Given the description of an element on the screen output the (x, y) to click on. 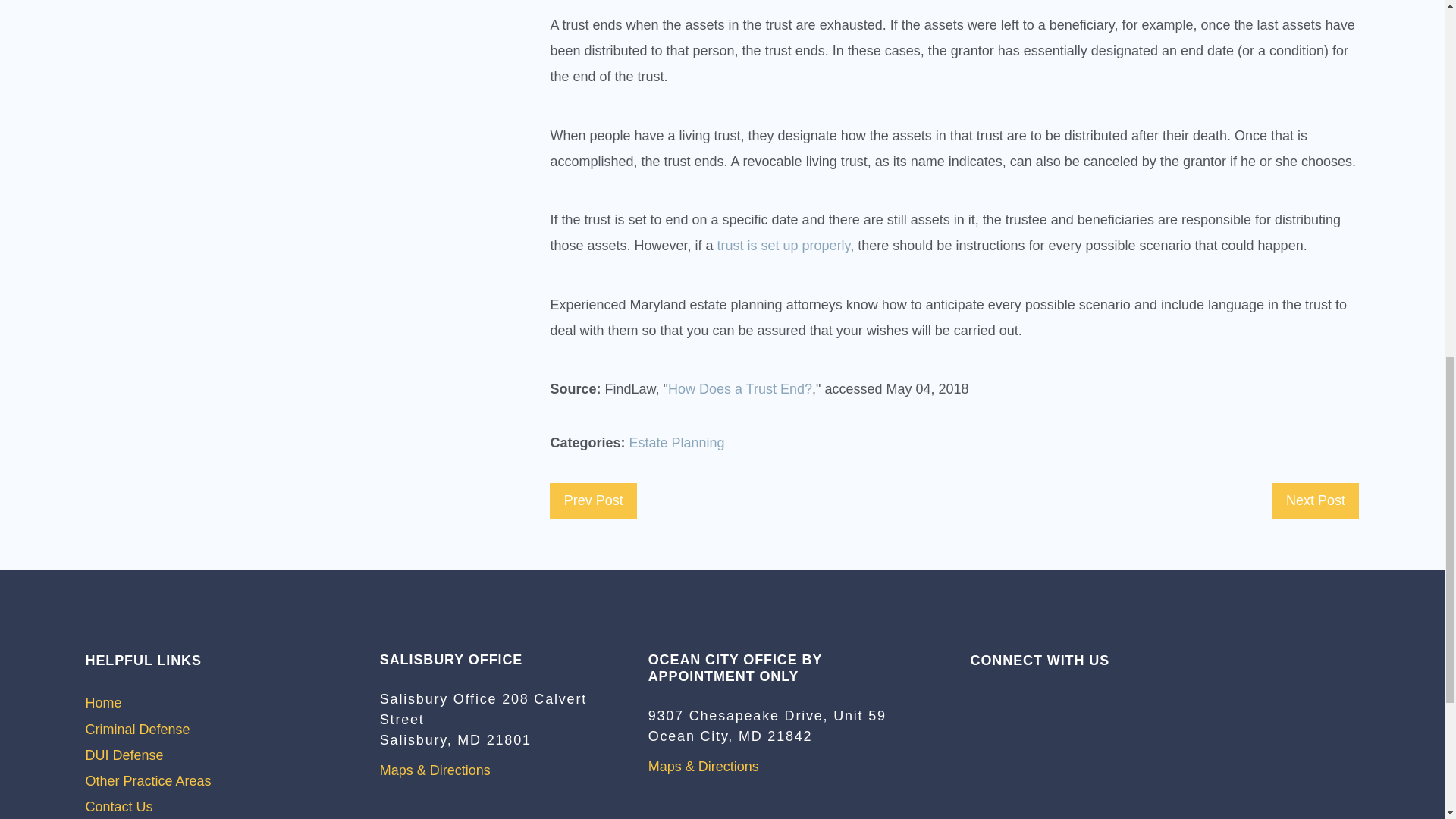
Google Business Profile (977, 697)
Twitter (1005, 697)
LinkedIn (1033, 697)
